Given the description of an element on the screen output the (x, y) to click on. 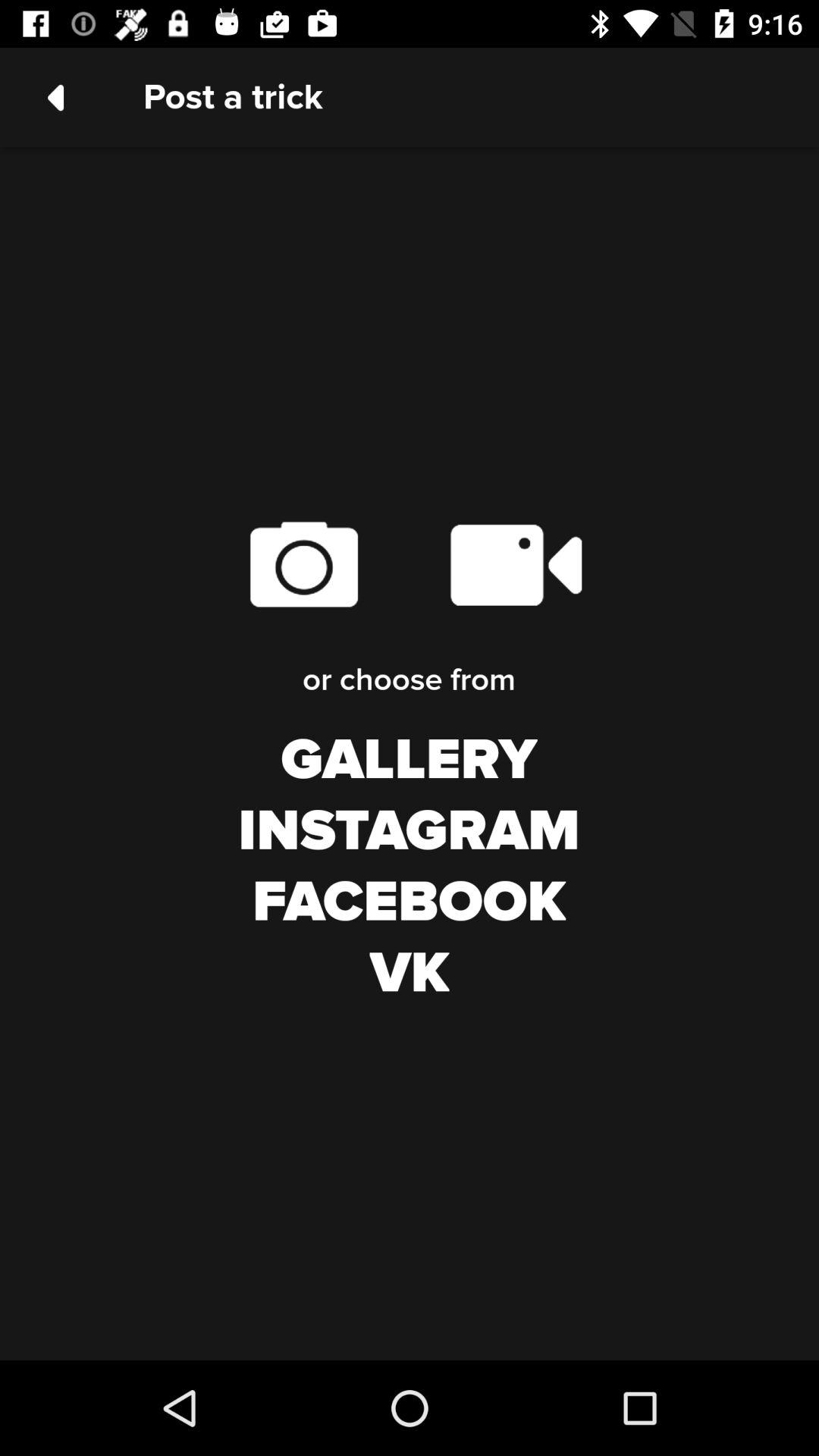
click facebook (408, 902)
